Given the description of an element on the screen output the (x, y) to click on. 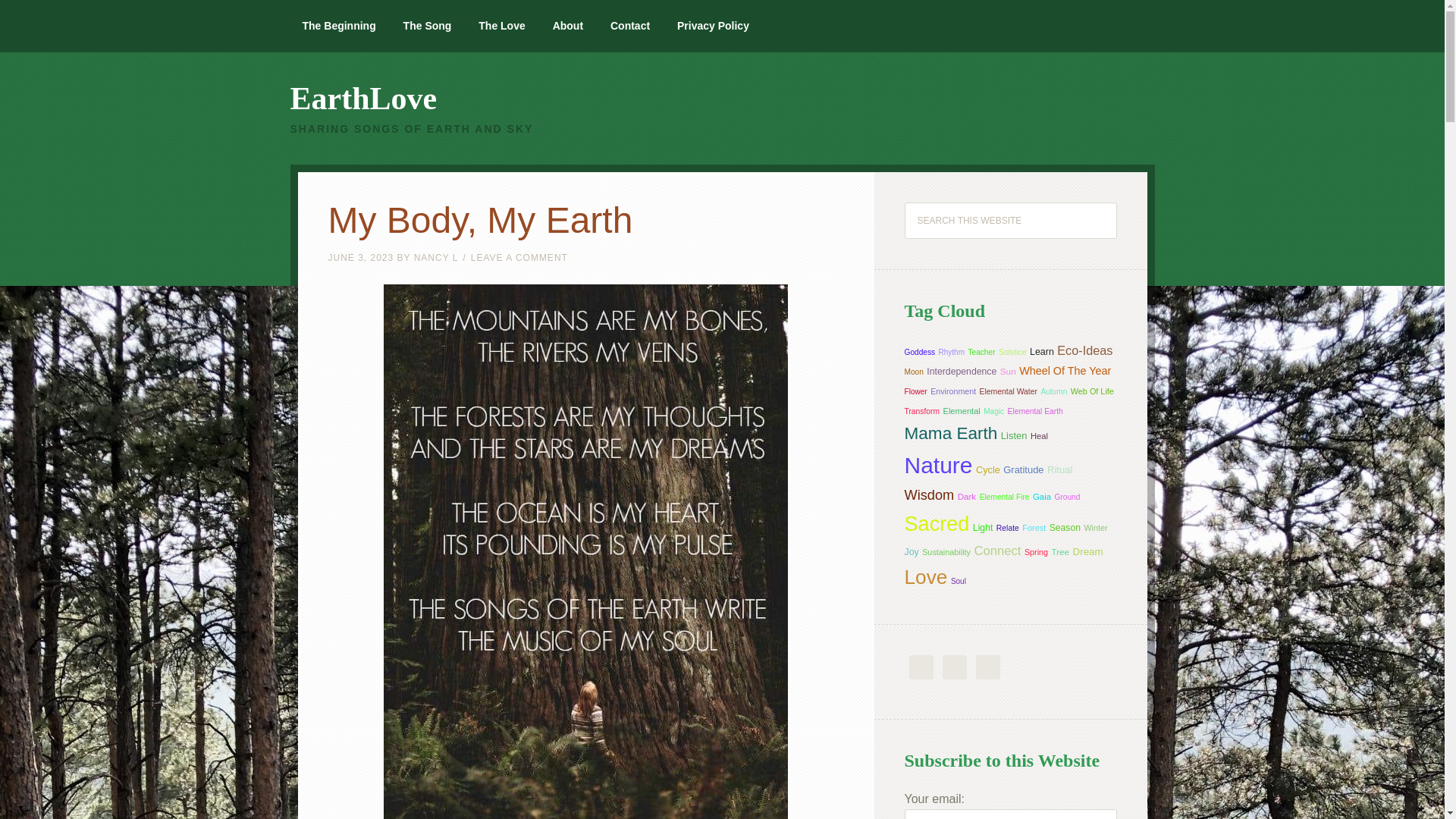
17 topics (913, 371)
About (567, 26)
20 topics (1007, 391)
Privacy Policy (713, 26)
16 topics (915, 391)
The Song (427, 26)
17 topics (981, 352)
LEAVE A COMMENT (518, 257)
24 topics (952, 390)
